Given the description of an element on the screen output the (x, y) to click on. 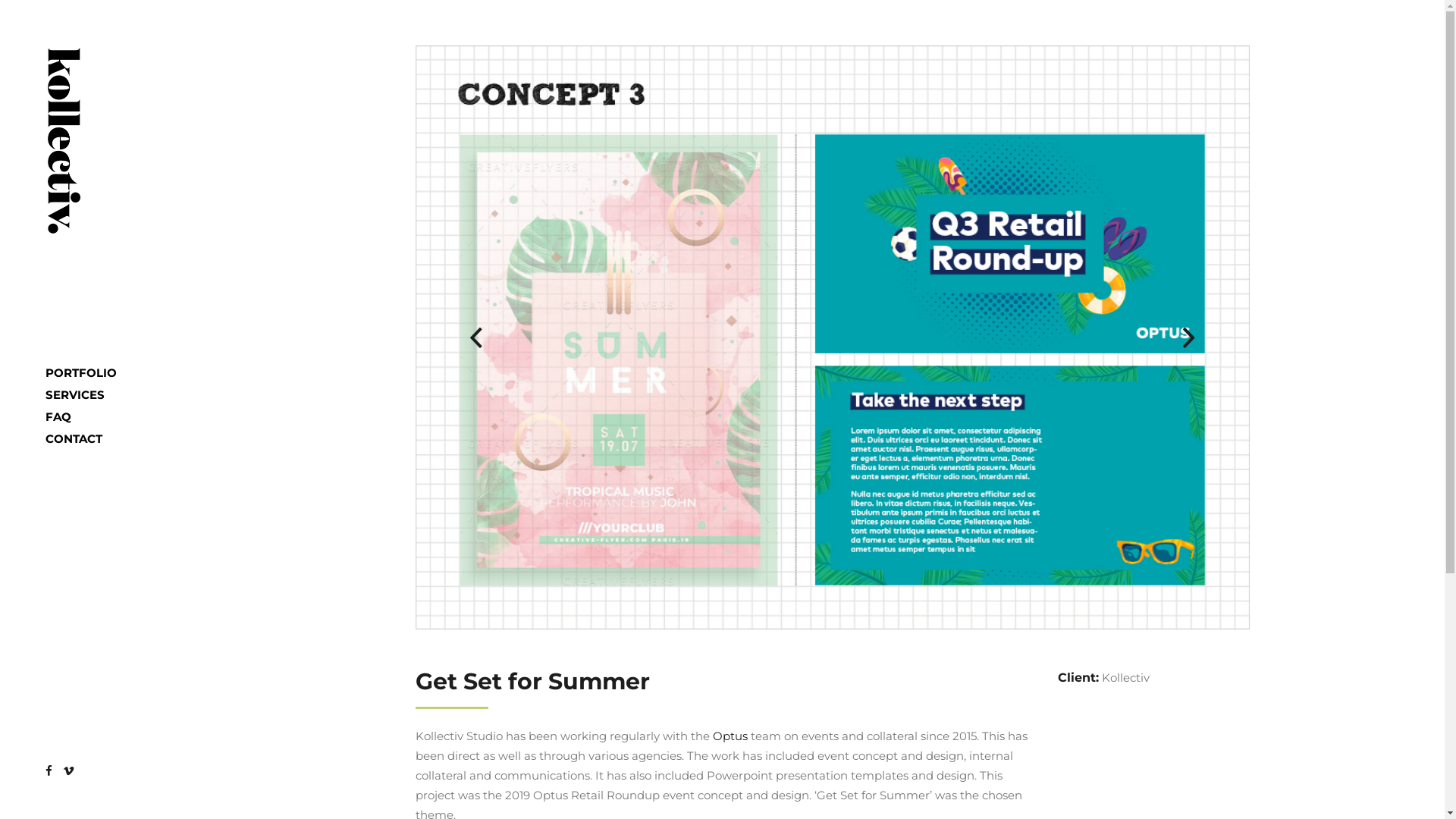
CONTACT Element type: text (92, 438)
FAQ Element type: text (92, 416)
PORTFOLIO Element type: text (92, 372)
Optus Element type: text (729, 735)
SERVICES Element type: text (92, 394)
Event concept and design Element type: hover (832, 337)
